Given the description of an element on the screen output the (x, y) to click on. 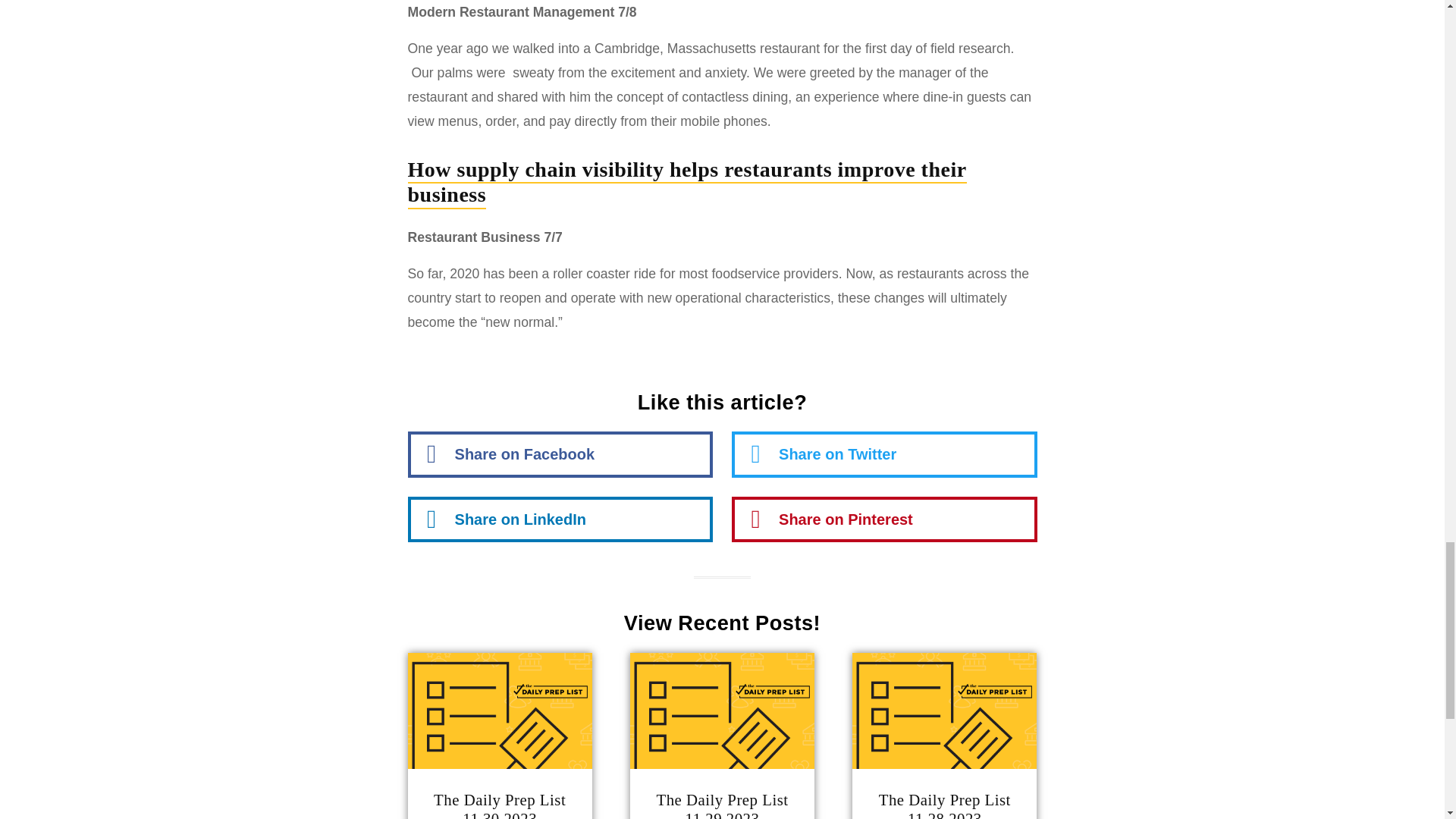
The Daily Prep List 11.29.2023 (721, 805)
The Daily Prep List 11.30.2023 (499, 805)
The Daily Prep List 11.28.2023 (944, 805)
